Given the description of an element on the screen output the (x, y) to click on. 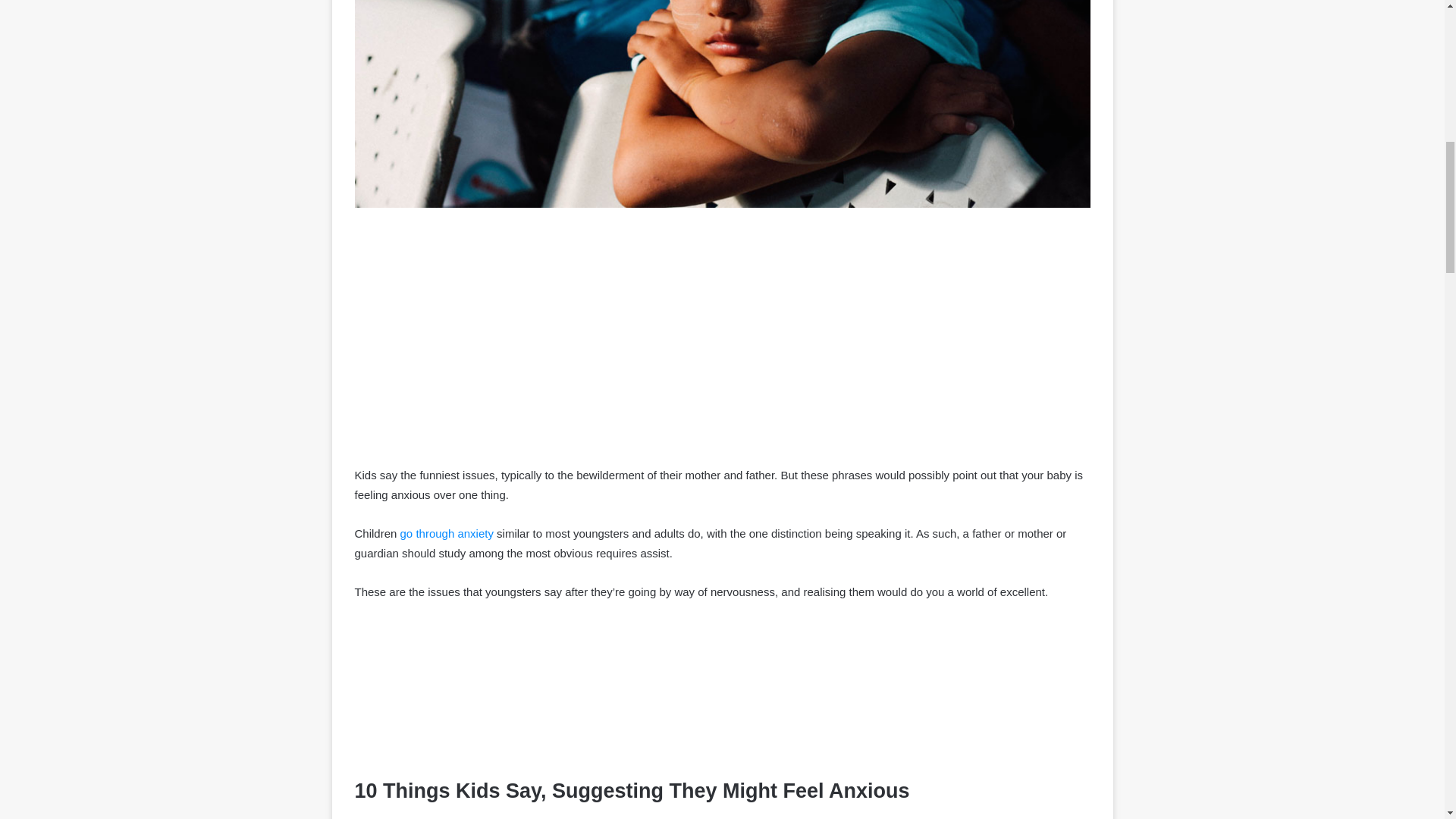
go through anxiety (446, 533)
Advertisement (722, 696)
